Given the description of an element on the screen output the (x, y) to click on. 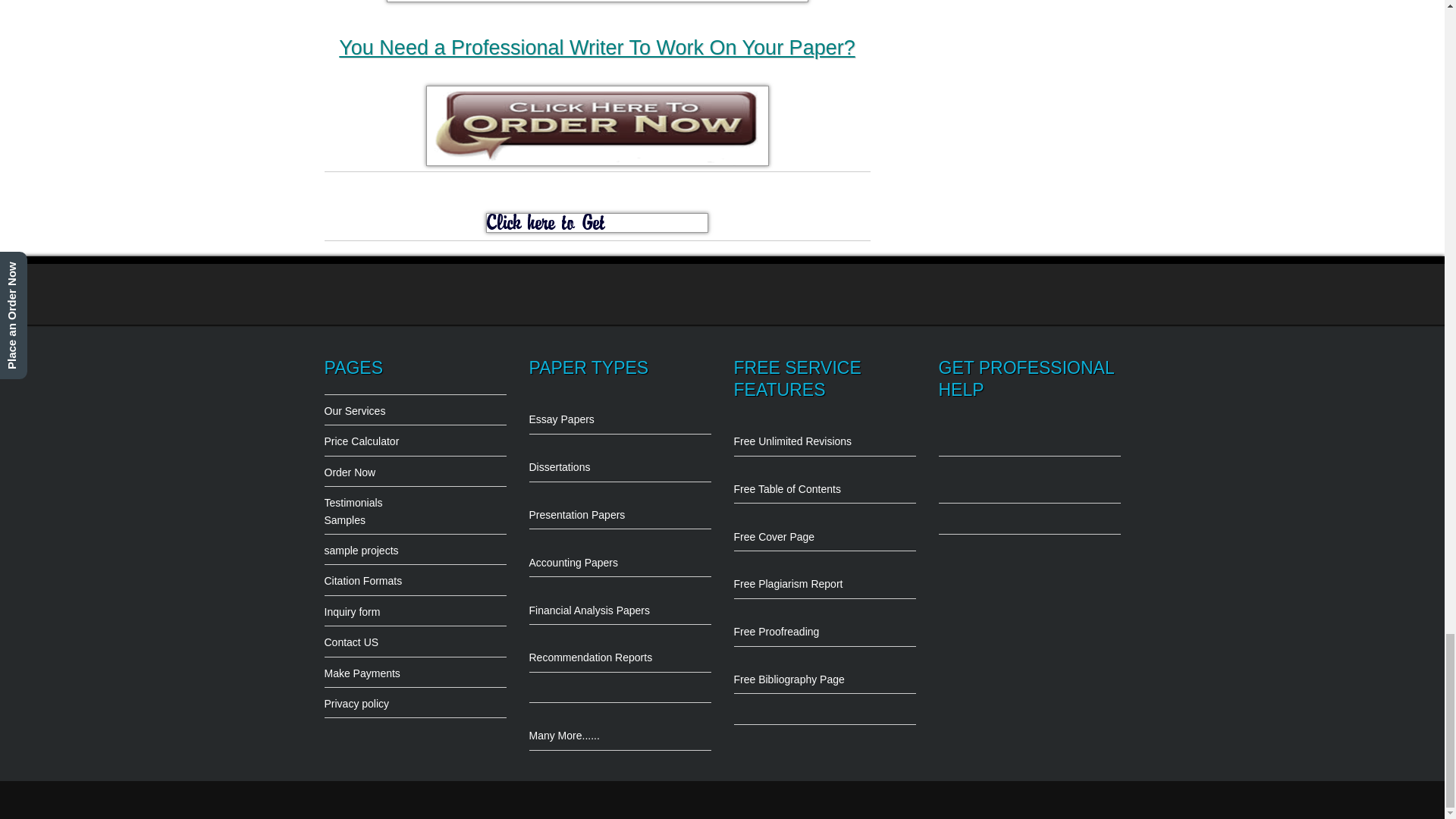
Order Now (415, 466)
Our Services (415, 404)
Inquiry form (415, 606)
Testimonials (415, 497)
Citation Formats (415, 575)
Contact US (415, 636)
Price Calculator (415, 436)
You Need a Professional Writer To Work On Your Paper? (596, 47)
